Given the description of an element on the screen output the (x, y) to click on. 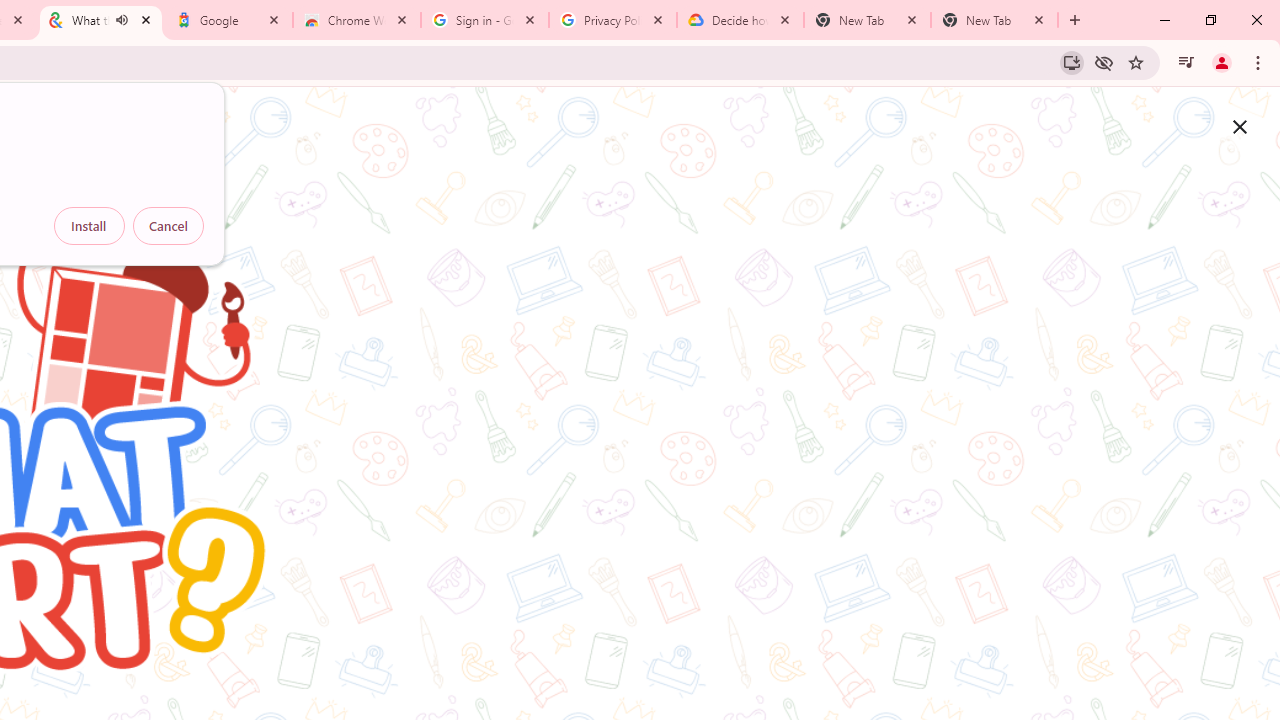
Install (89, 225)
Chrome Web Store - Color themes by Chrome (357, 20)
Google (229, 20)
